Given the description of an element on the screen output the (x, y) to click on. 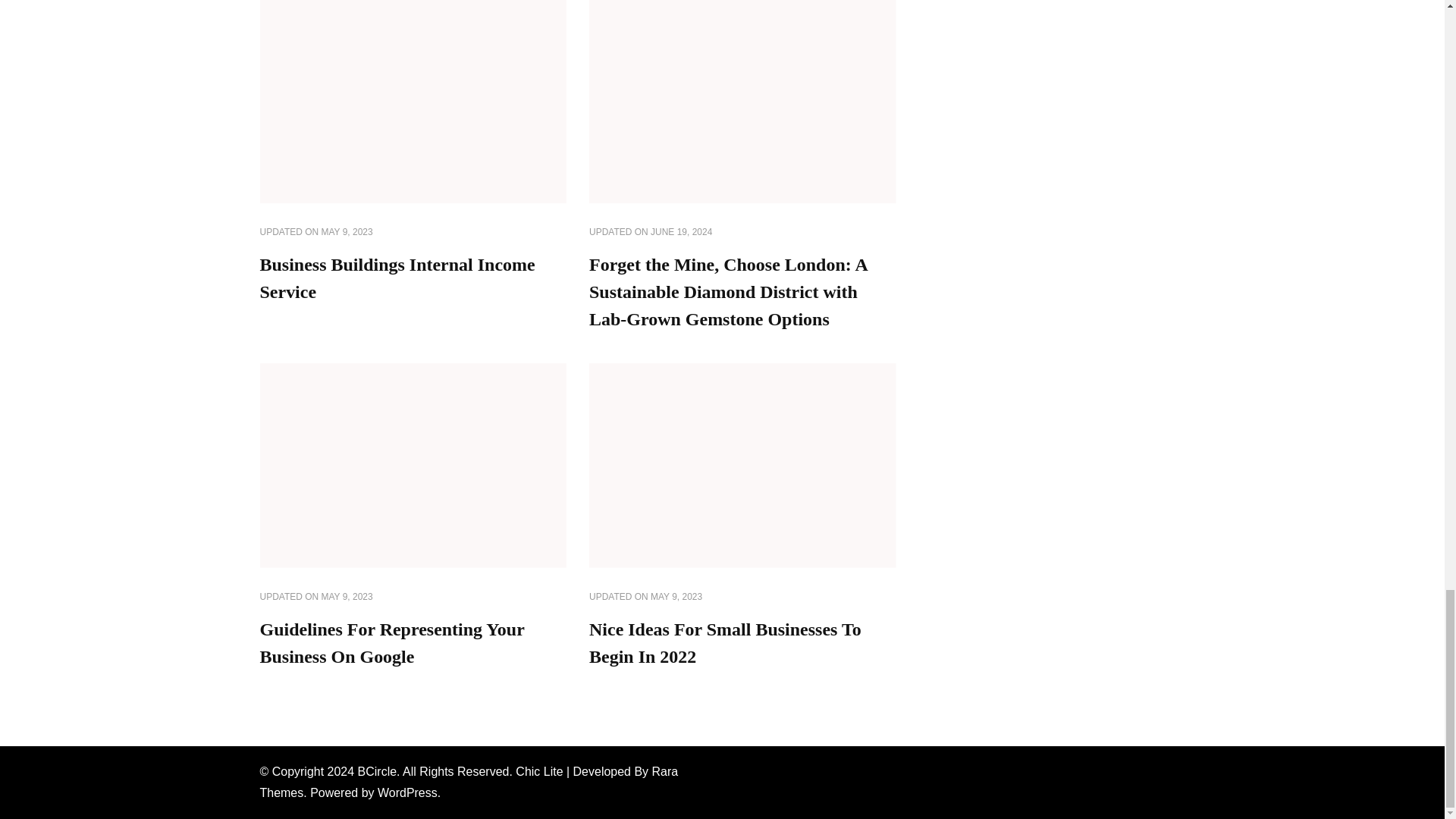
JUNE 19, 2024 (680, 232)
MAY 9, 2023 (346, 597)
Nice Ideas For Small Businesses To Begin In 2022 (725, 642)
MAY 9, 2023 (346, 232)
MAY 9, 2023 (675, 597)
Guidelines For Representing Your Business On Google (391, 642)
Business Buildings Internal Income Service (396, 278)
